Given the description of an element on the screen output the (x, y) to click on. 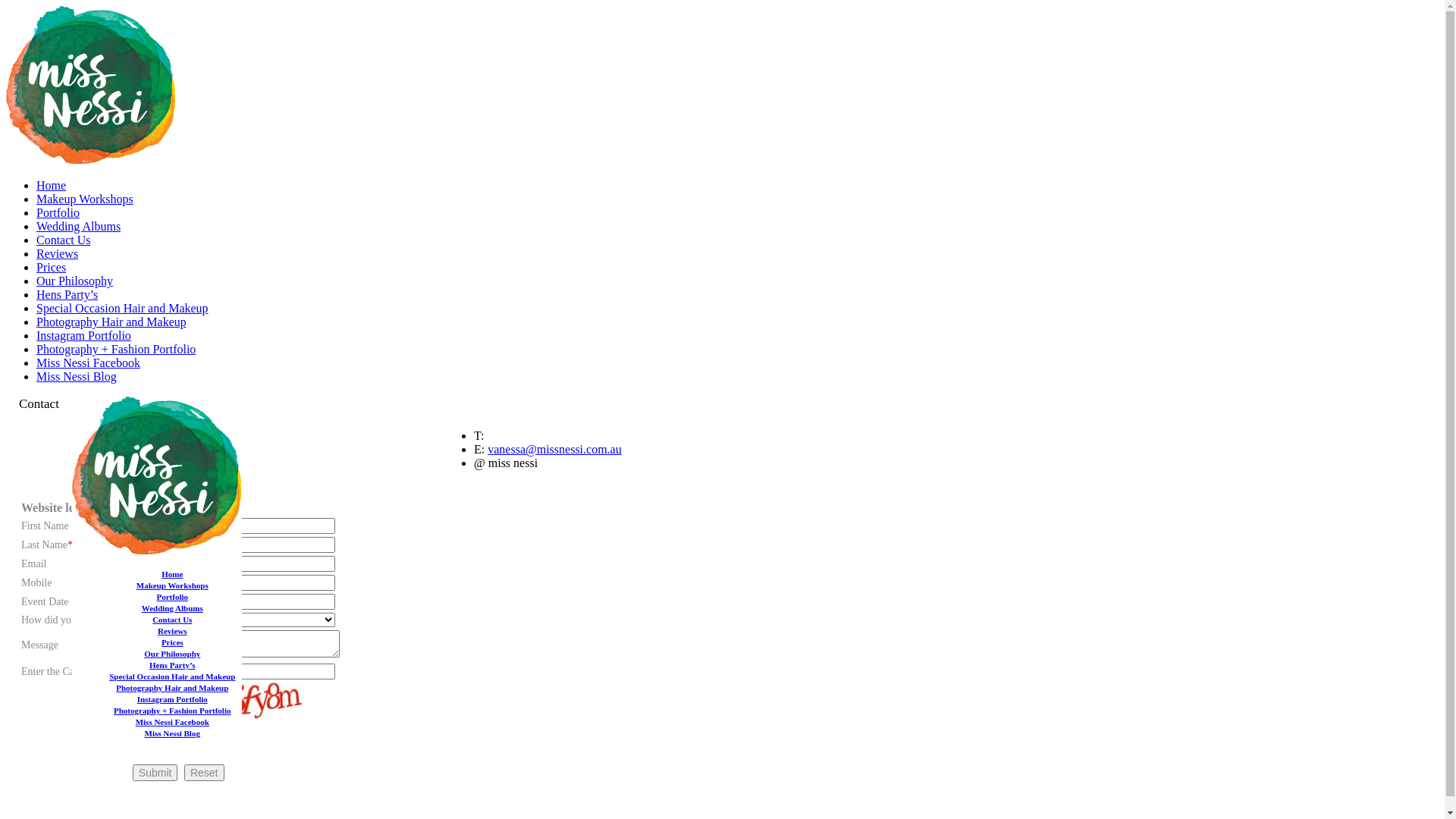
Portfolio Element type: text (172, 596)
Special Occasion Hair and Makeup Element type: text (122, 307)
Miss Nessi Facebook Element type: text (172, 721)
Reviews Element type: text (172, 630)
Contact Us Element type: text (171, 619)
Photography Hair and Makeup Element type: text (172, 687)
Portfolio Element type: text (57, 212)
Special Occasion Hair and Makeup Element type: text (172, 675)
Reload Element type: text (172, 743)
Miss Nessi Blog Element type: text (76, 376)
Wedding Albums Element type: text (172, 607)
Miss Nessi Facebook Element type: text (88, 362)
Makeup Workshops Element type: text (172, 584)
Prices Element type: text (50, 266)
Home Element type: text (50, 184)
Contact Us Element type: text (63, 239)
Our Philosophy Element type: text (74, 280)
Photography + Fashion Portfolio Element type: text (171, 710)
Instagram Portfolio Element type: text (83, 335)
Instagram Portfolio Element type: text (172, 698)
Miss Nessi Blog Element type: text (172, 732)
Reviews Element type: text (57, 253)
vanessa@missnessi.com.au Element type: text (554, 448)
Makeup Workshops Element type: text (84, 198)
Home Element type: text (171, 573)
Photography Hair and Makeup Element type: text (111, 321)
Wedding Albums Element type: text (78, 225)
Submit Element type: text (155, 772)
Our Philosophy Element type: text (172, 653)
Prices Element type: text (172, 641)
Photography + Fashion Portfolio Element type: text (115, 348)
